Given the description of an element on the screen output the (x, y) to click on. 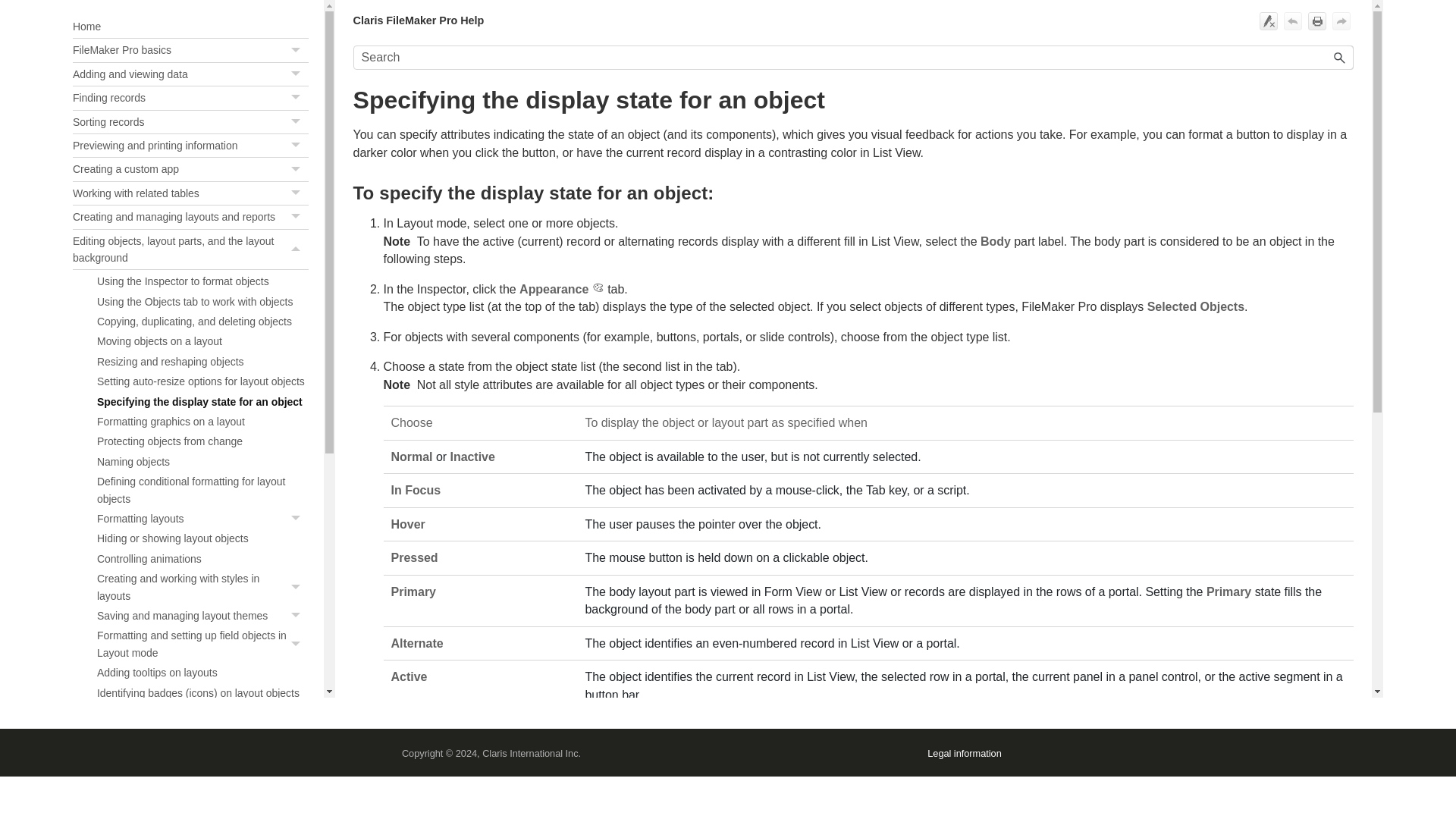
Controlling animations (202, 518)
Specifying the display state for an object (190, 50)
Hiding or showing layout objects (190, 217)
Protecting objects from change (202, 558)
Resizing and reshaping objects (202, 401)
